Given the description of an element on the screen output the (x, y) to click on. 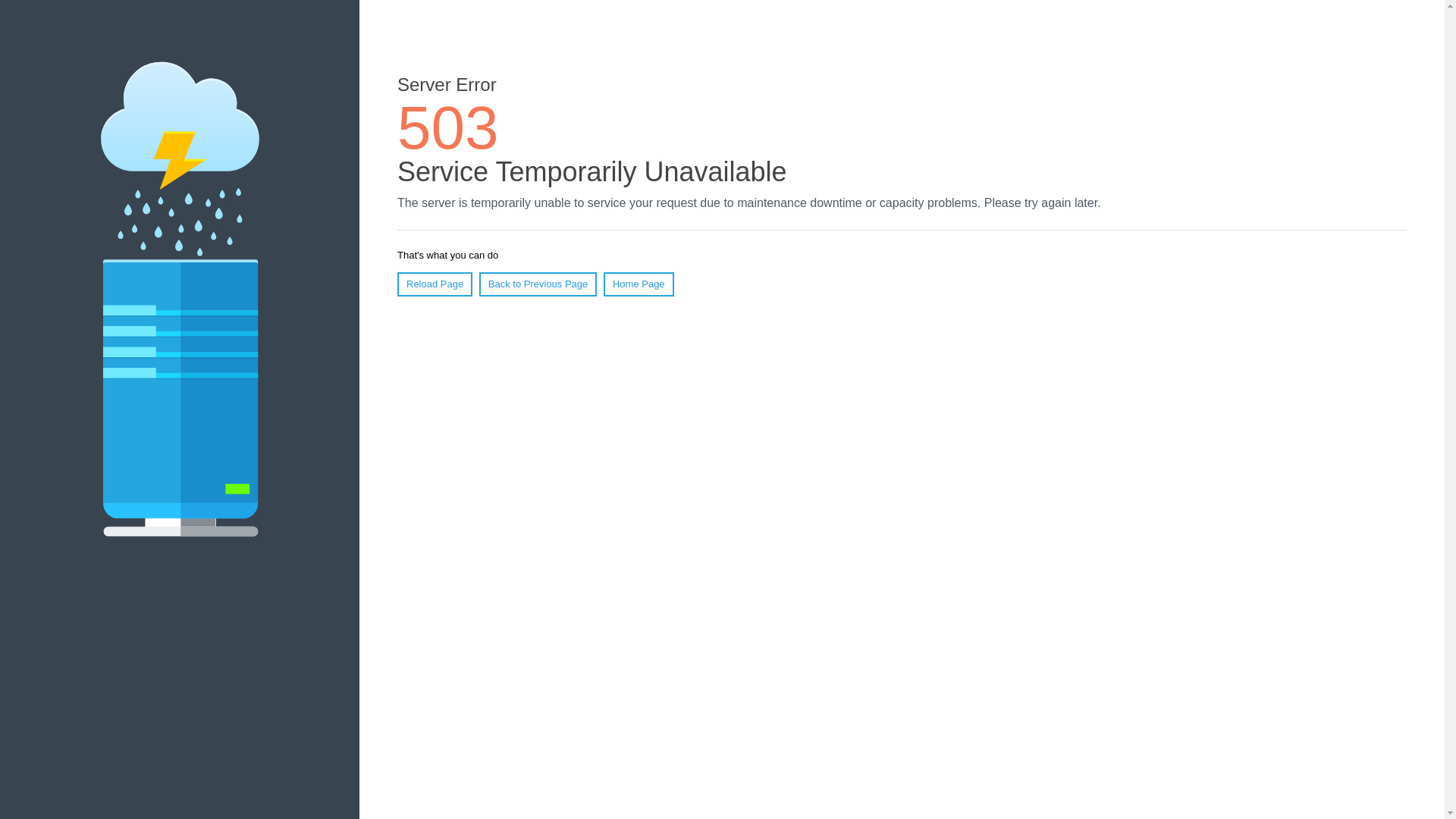
Reload Page Element type: text (434, 284)
Back to Previous Page Element type: text (538, 284)
Home Page Element type: text (638, 284)
